Given the description of an element on the screen output the (x, y) to click on. 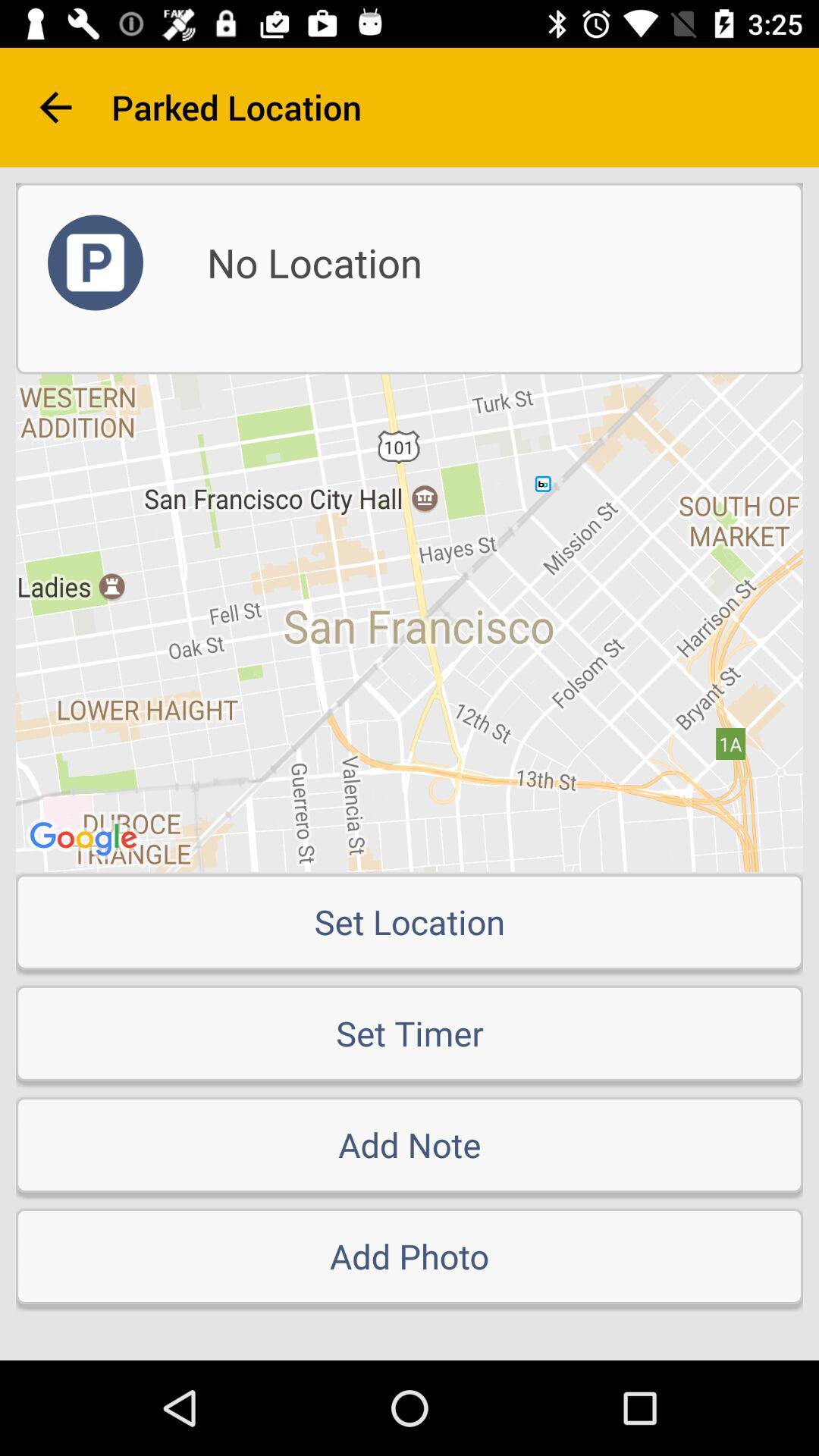
swipe to add photo item (409, 1256)
